Given the description of an element on the screen output the (x, y) to click on. 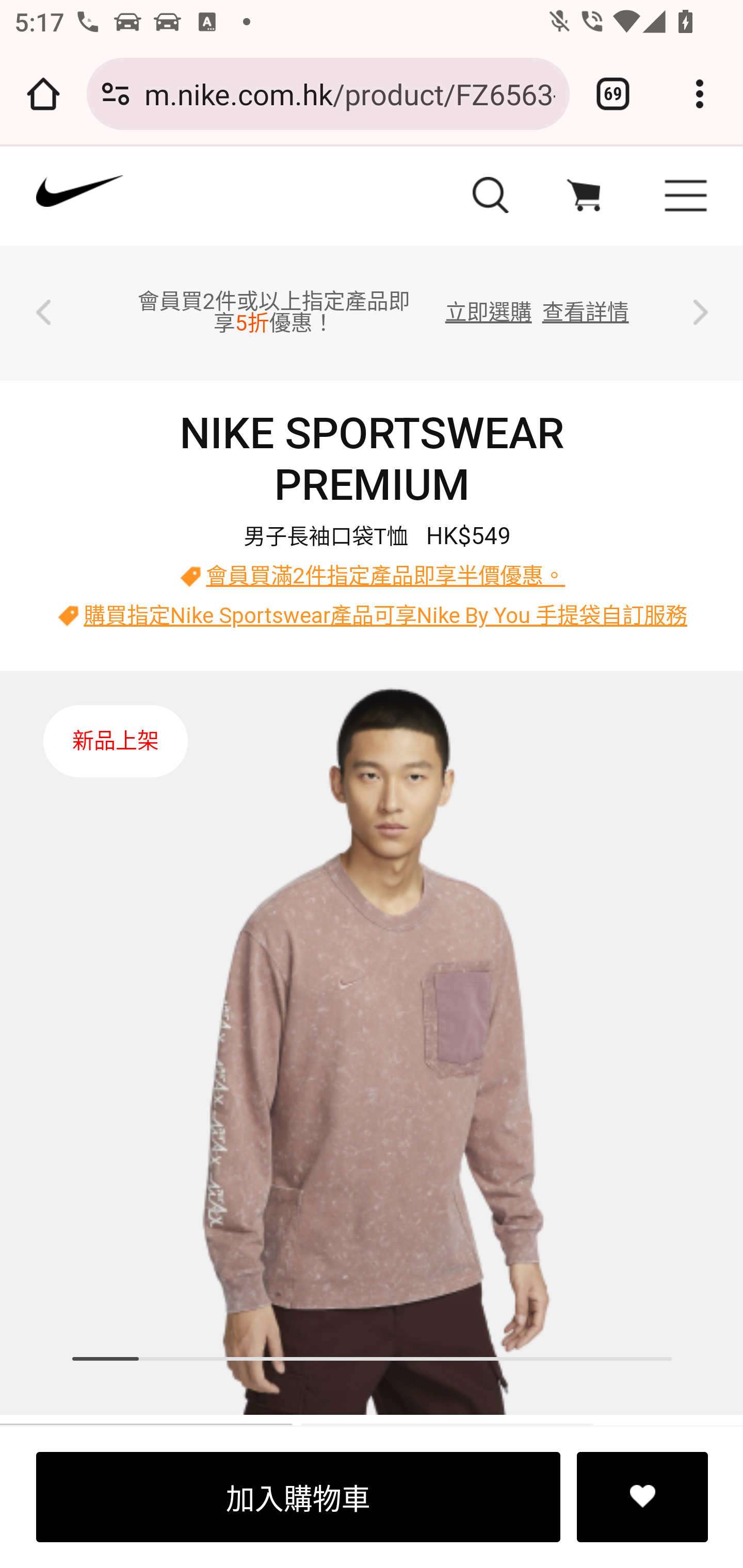
Open the home page (43, 93)
Connection is secure (115, 93)
Switch or close tabs (612, 93)
Customize and control Google Chrome (699, 93)
index (204, 199)
javascript:void(0) (582, 198)
